Given the description of an element on the screen output the (x, y) to click on. 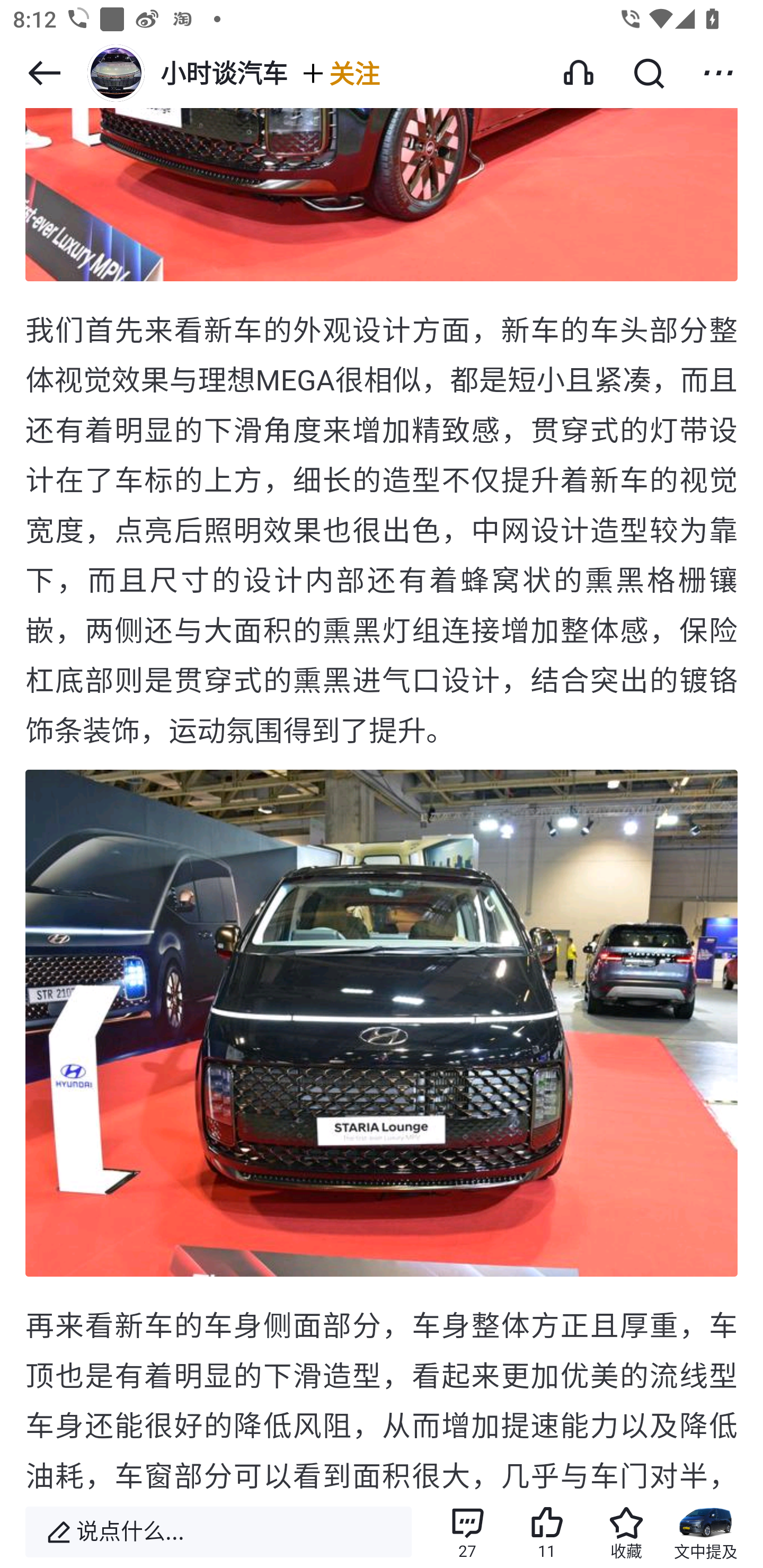
小时谈汽车 (185, 72)
 (44, 72)
 (648, 72)
 (718, 72)
 关注 (339, 73)
 27 (467, 1531)
11 (546, 1531)
收藏 (625, 1531)
文中提及 (705, 1531)
 说点什么... (218, 1531)
